Given the description of an element on the screen output the (x, y) to click on. 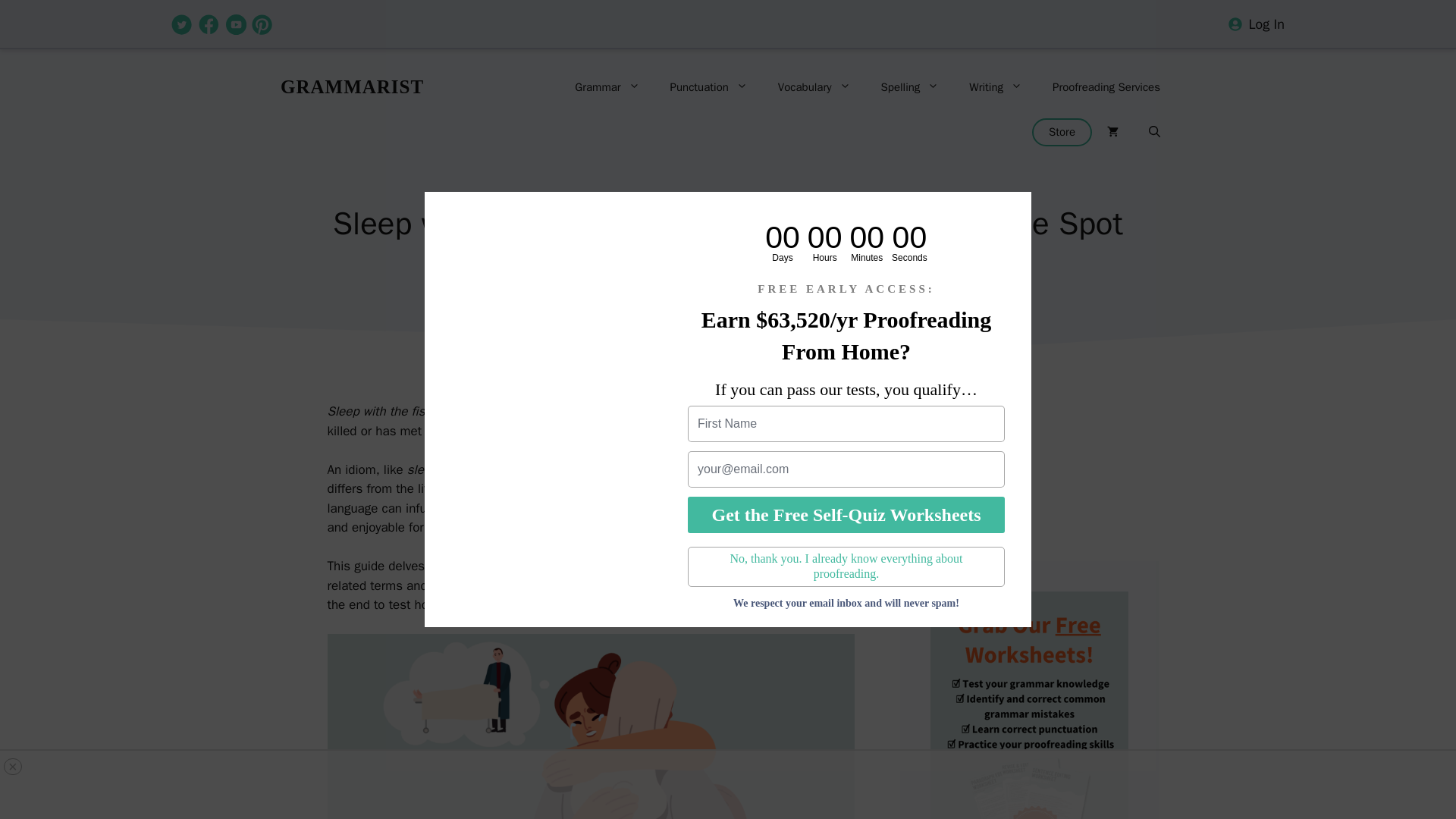
GRAMMARIST (352, 86)
Grammar (606, 86)
Get the Free Self-Quiz Worksheets (845, 514)
Vocabulary (814, 86)
Punctuation (708, 86)
View your shopping cart (1113, 132)
Log In (1266, 23)
